Given the description of an element on the screen output the (x, y) to click on. 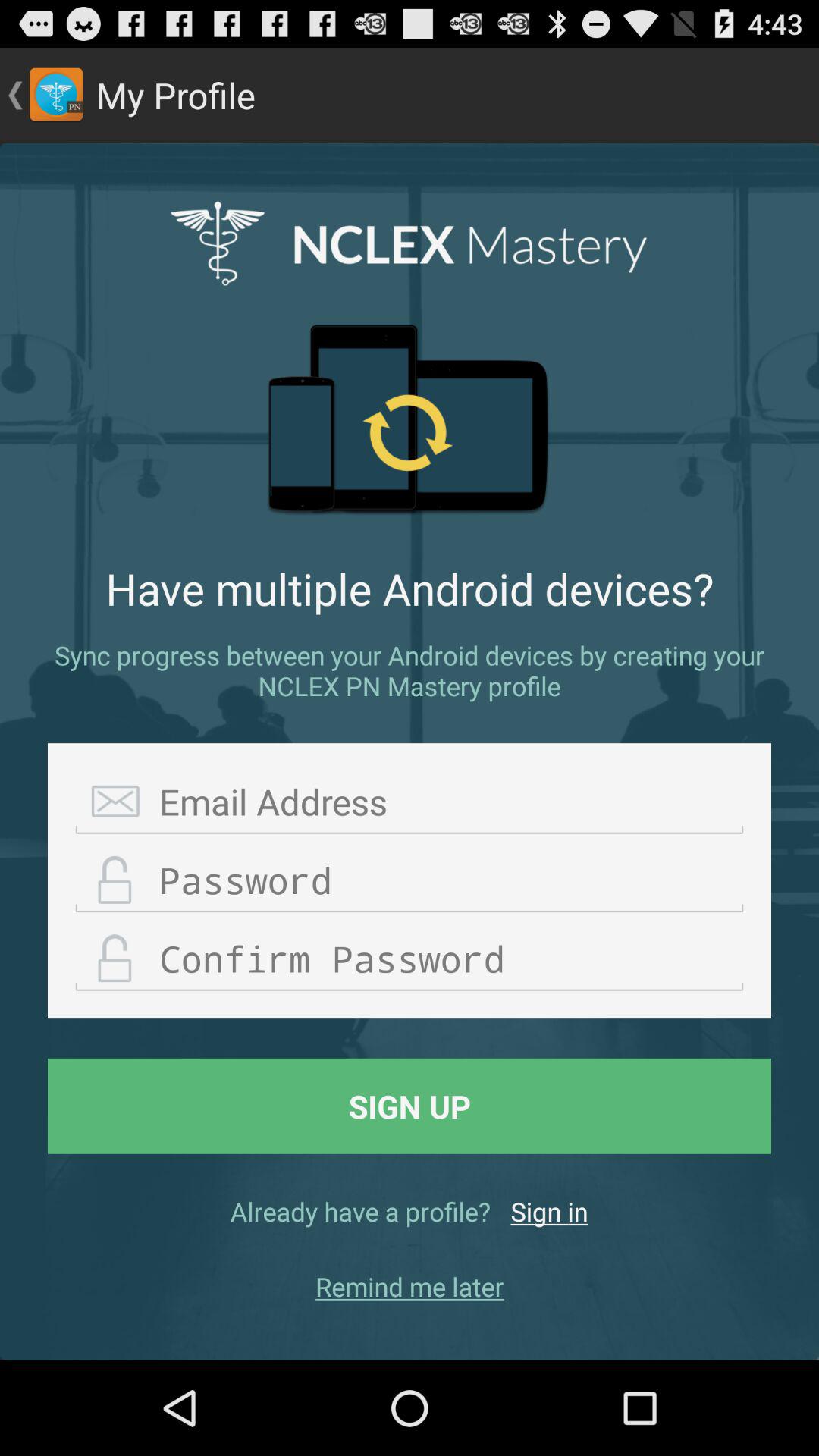
press item above the already have a item (409, 1105)
